Given the description of an element on the screen output the (x, y) to click on. 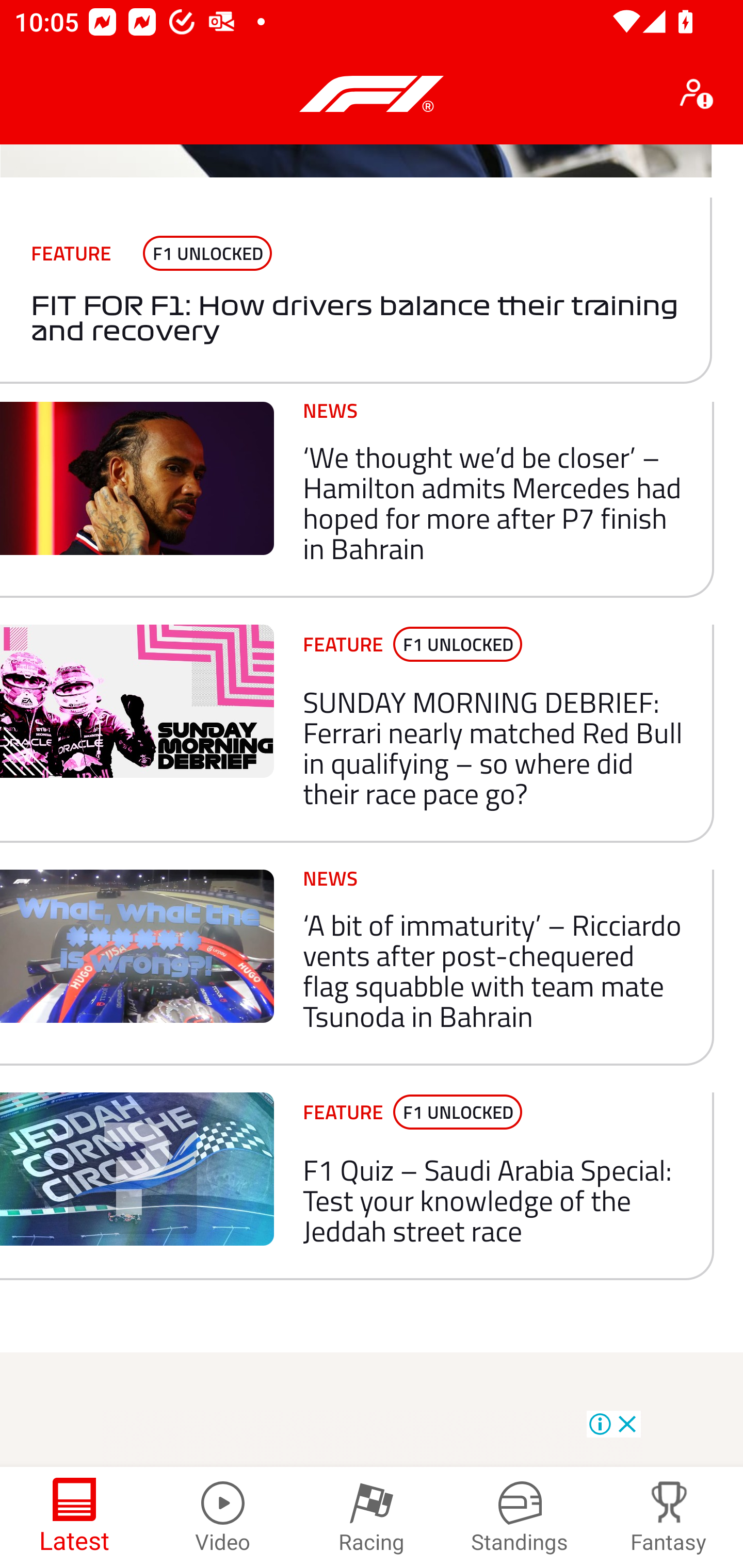
Video (222, 1517)
Racing (371, 1517)
Standings (519, 1517)
Fantasy (668, 1517)
